Given the description of an element on the screen output the (x, y) to click on. 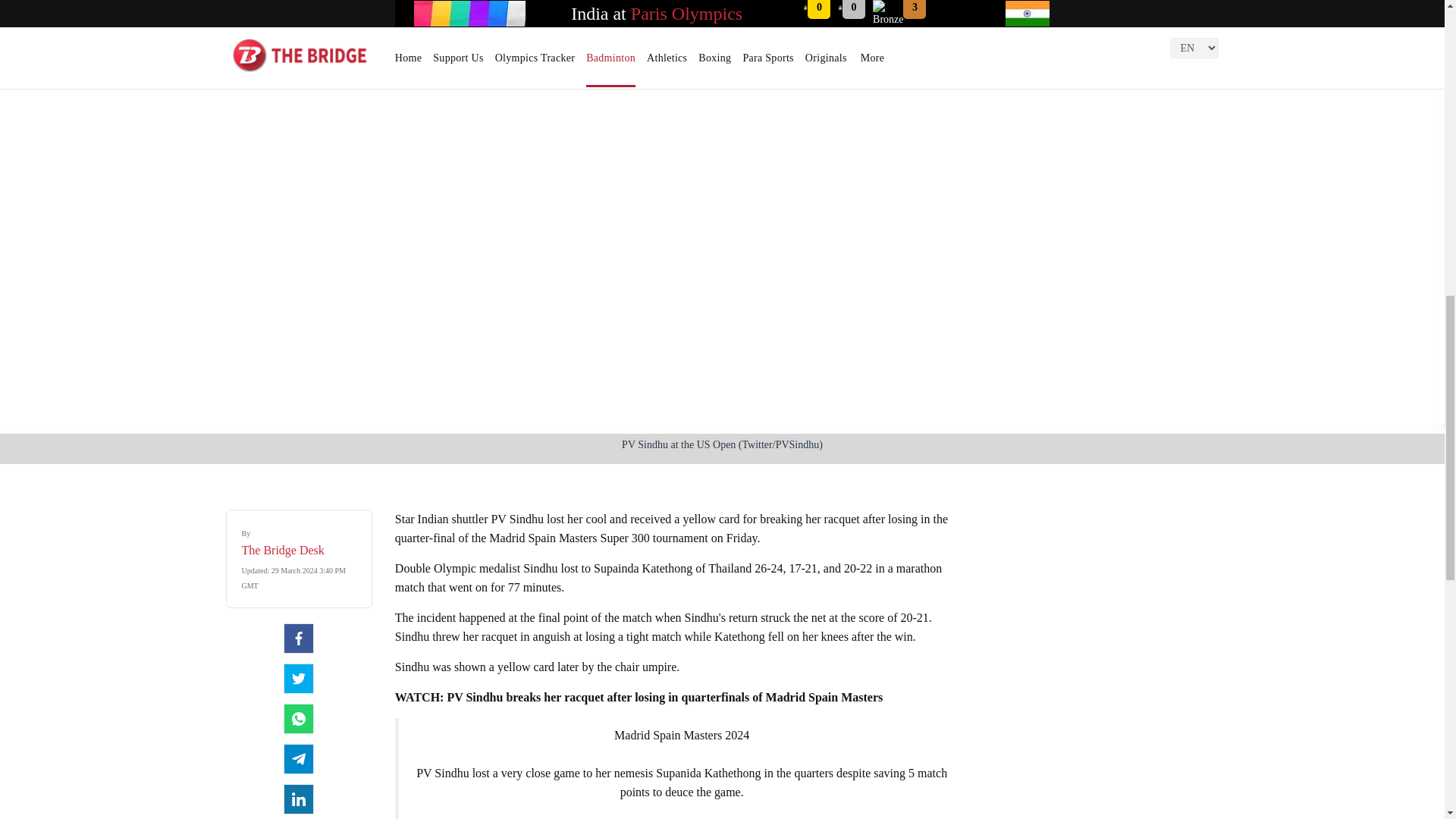
LinkedIn (298, 798)
